Given the description of an element on the screen output the (x, y) to click on. 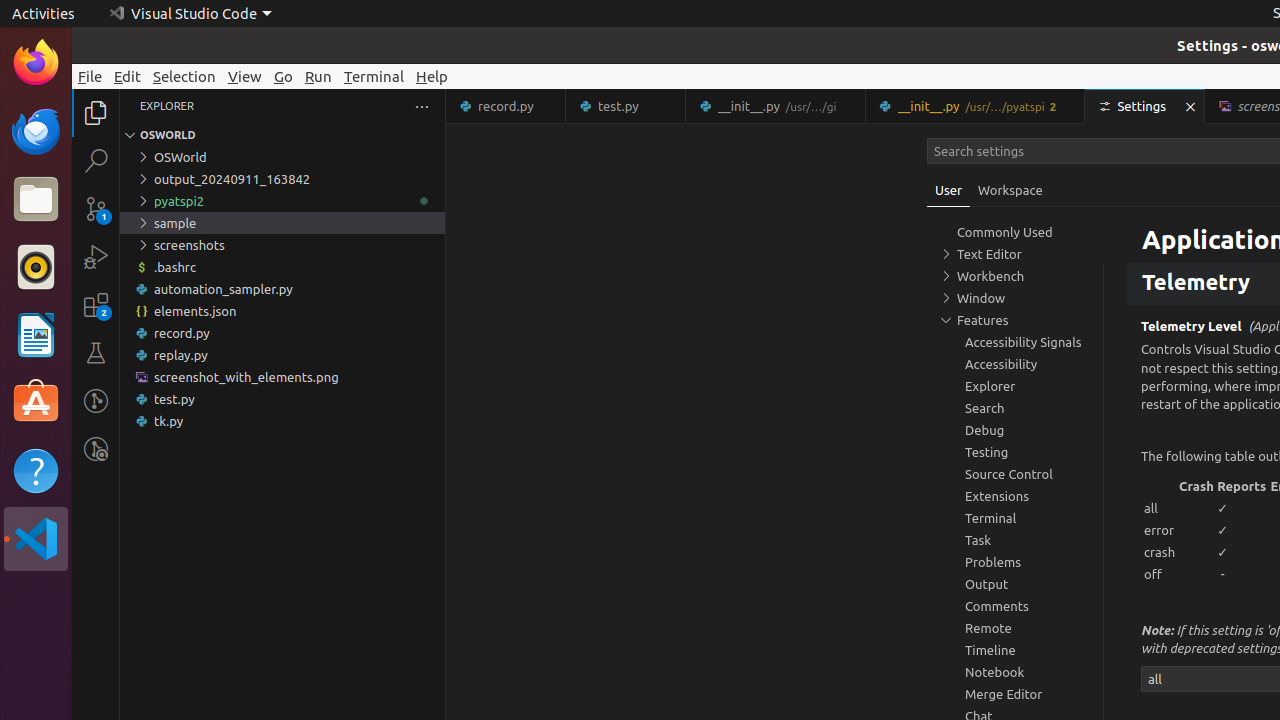
Problems, group Element type: tree-item (1015, 562)
Commonly Used, group Element type: tree-item (1015, 232)
Window, group Element type: tree-item (1015, 298)
Terminal, group Element type: tree-item (1015, 518)
